Given the description of an element on the screen output the (x, y) to click on. 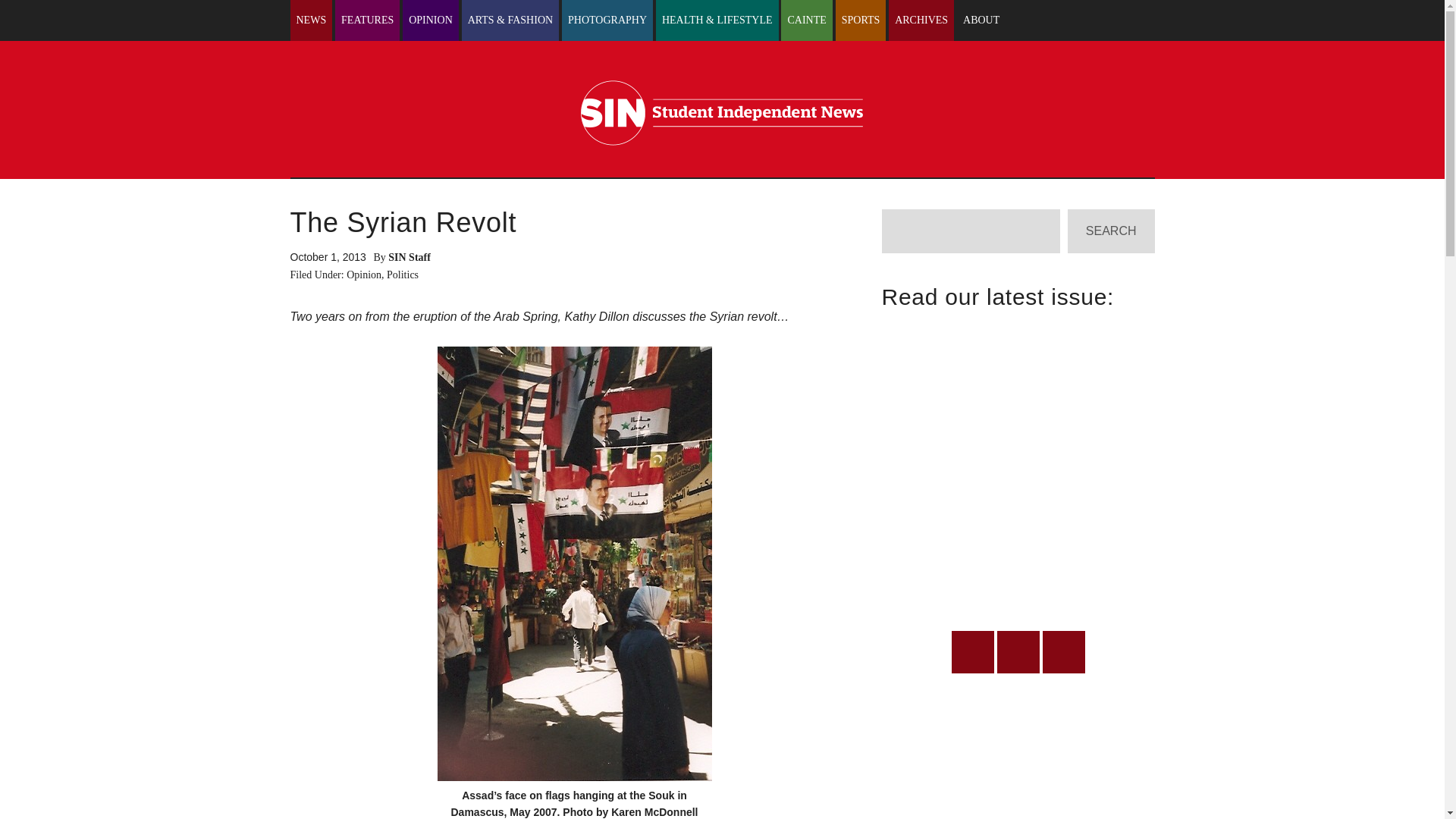
FEATURES (366, 20)
OPINION (430, 20)
PHOTOGRAPHY (607, 20)
CAINTE (805, 20)
SPORTS (860, 20)
NEWS (310, 20)
